Given the description of an element on the screen output the (x, y) to click on. 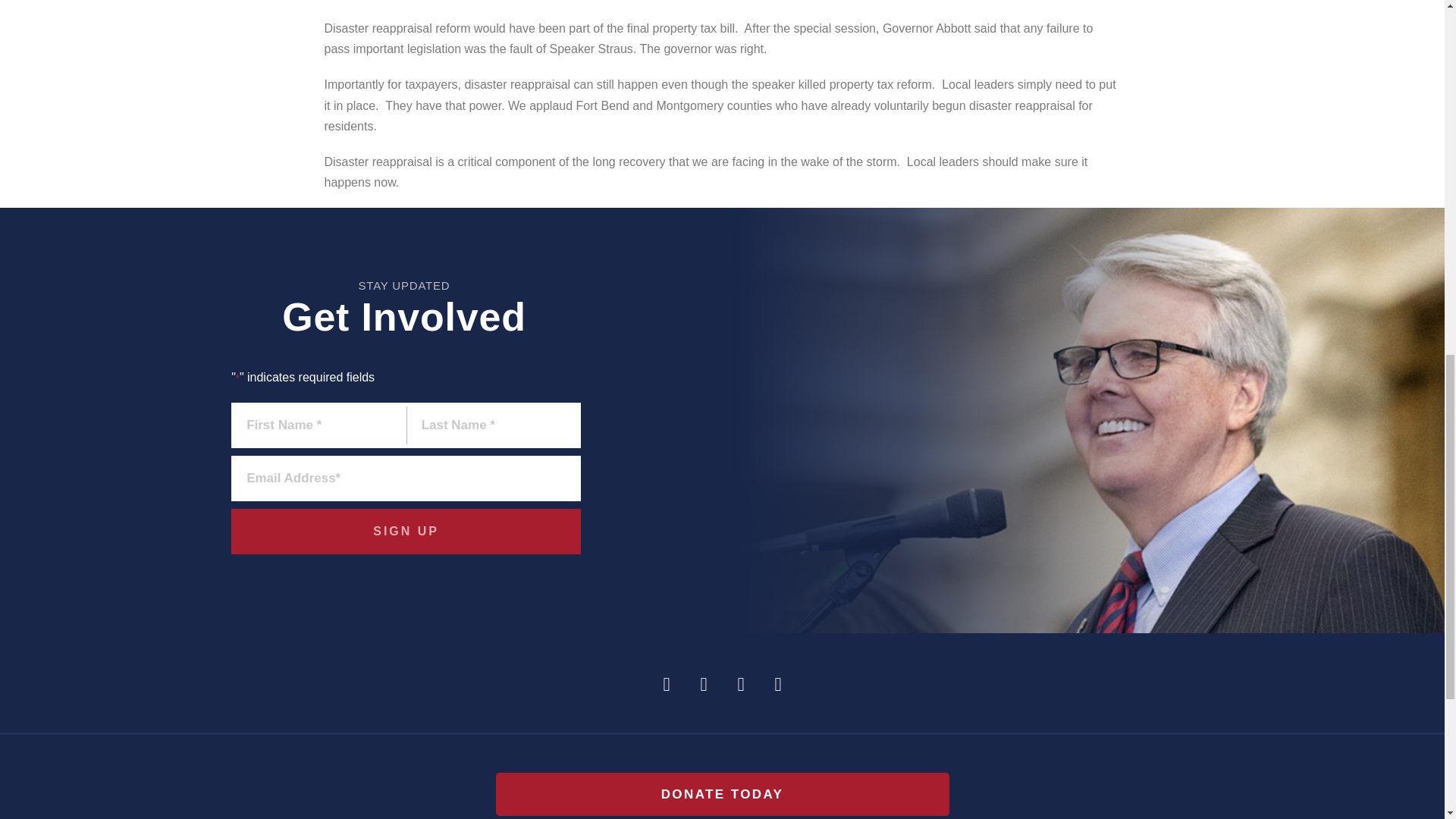
SIGN UP (405, 531)
DONATE TODAY (722, 794)
SIGN UP (405, 531)
